Given the description of an element on the screen output the (x, y) to click on. 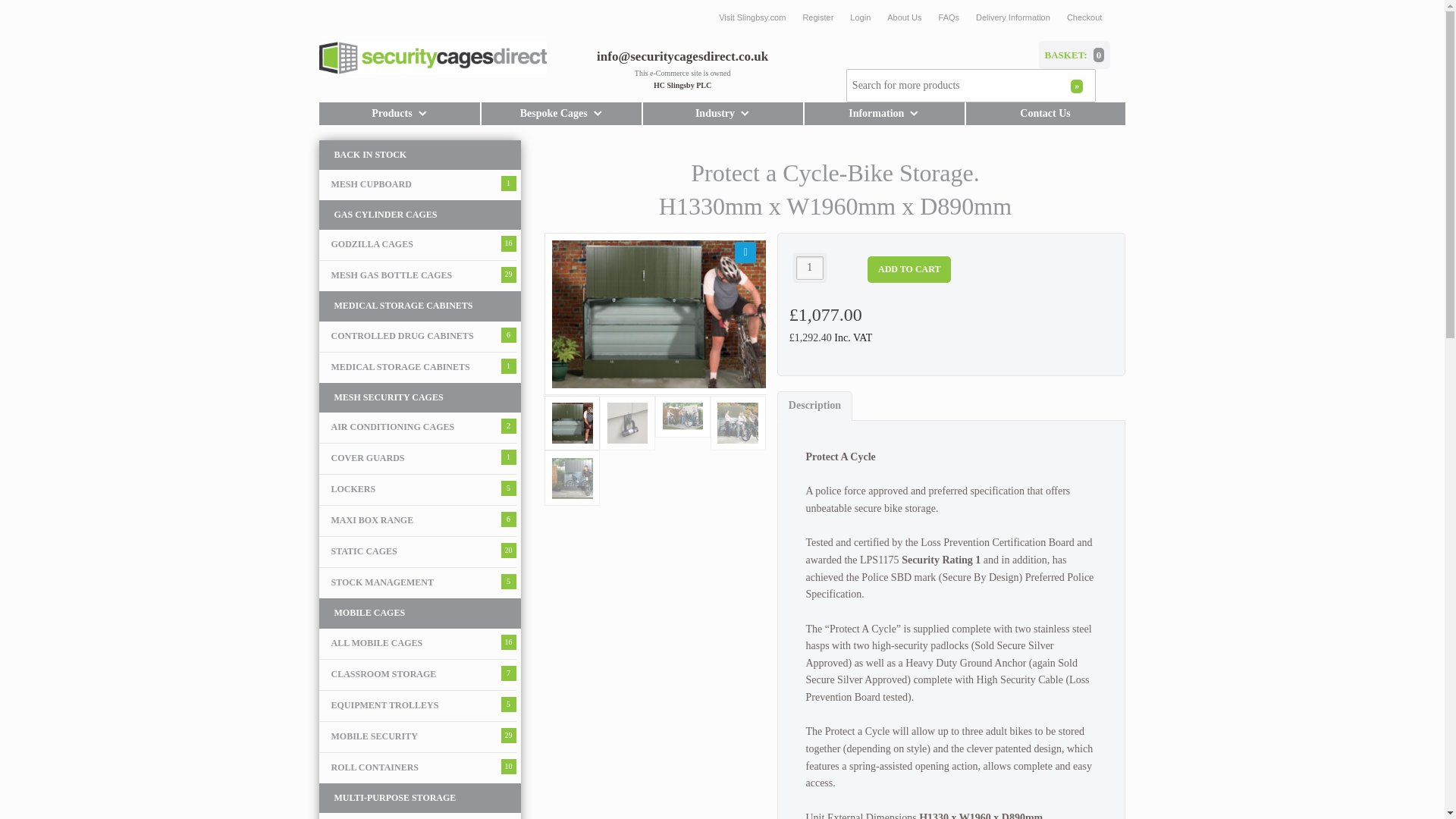
Visit Slingbsy.com (751, 17)
Login (860, 17)
BASKET: 0 (1074, 54)
About Us (904, 17)
Checkout (1083, 17)
Bike Store (662, 313)
Delivery Information (1013, 17)
Register (817, 17)
HC Slingsby PLC (682, 85)
View your shopping cart (1074, 54)
Products (399, 113)
1 (810, 268)
FAQs (949, 17)
